Given the description of an element on the screen output the (x, y) to click on. 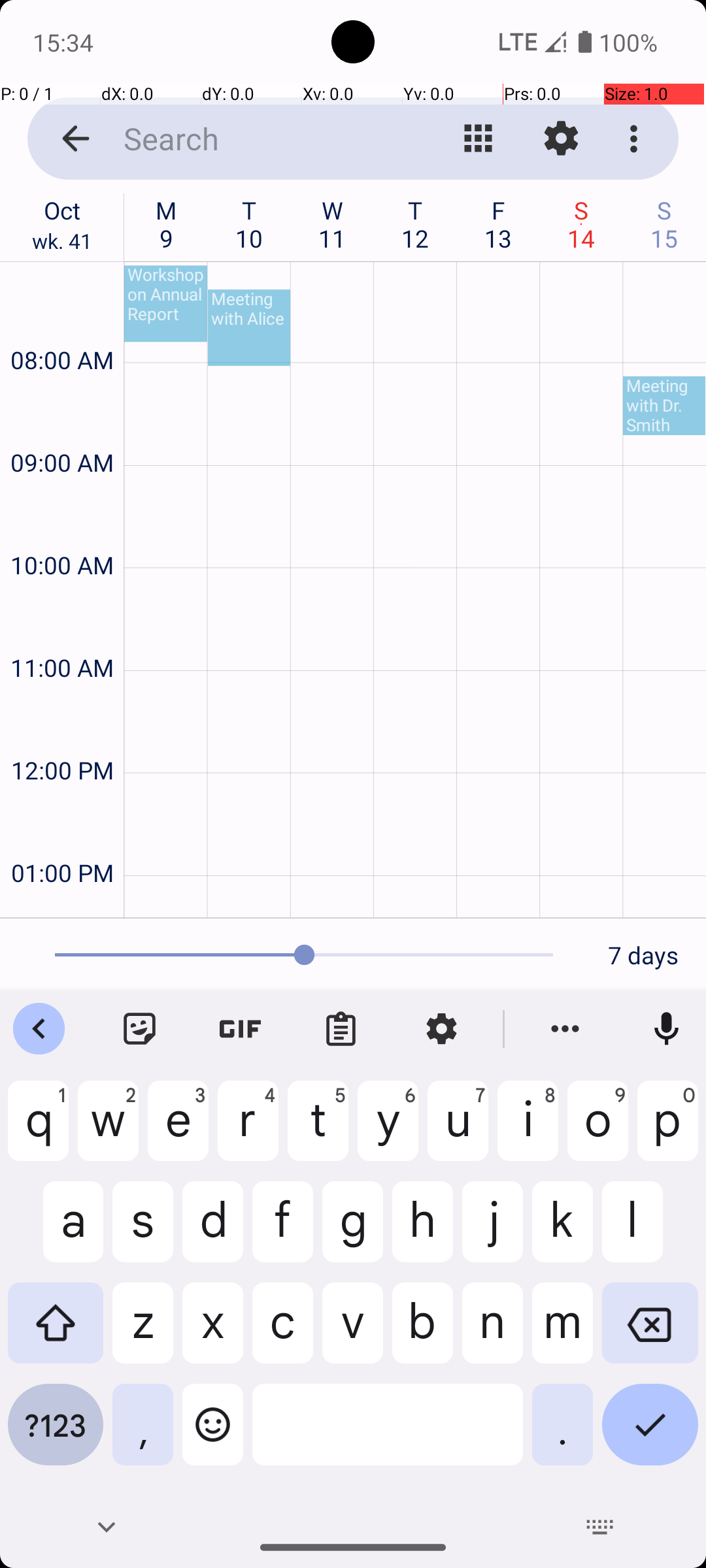
08:00 AM Element type: android.widget.TextView (62, 324)
09:00 AM Element type: android.widget.TextView (62, 427)
10:00 AM Element type: android.widget.TextView (62, 529)
11:00 AM Element type: android.widget.TextView (62, 632)
12:00 PM Element type: android.widget.TextView (62, 735)
02:00 PM Element type: android.widget.TextView (62, 903)
Meeting with Alice Element type: android.widget.TextView (248, 327)
